Given the description of an element on the screen output the (x, y) to click on. 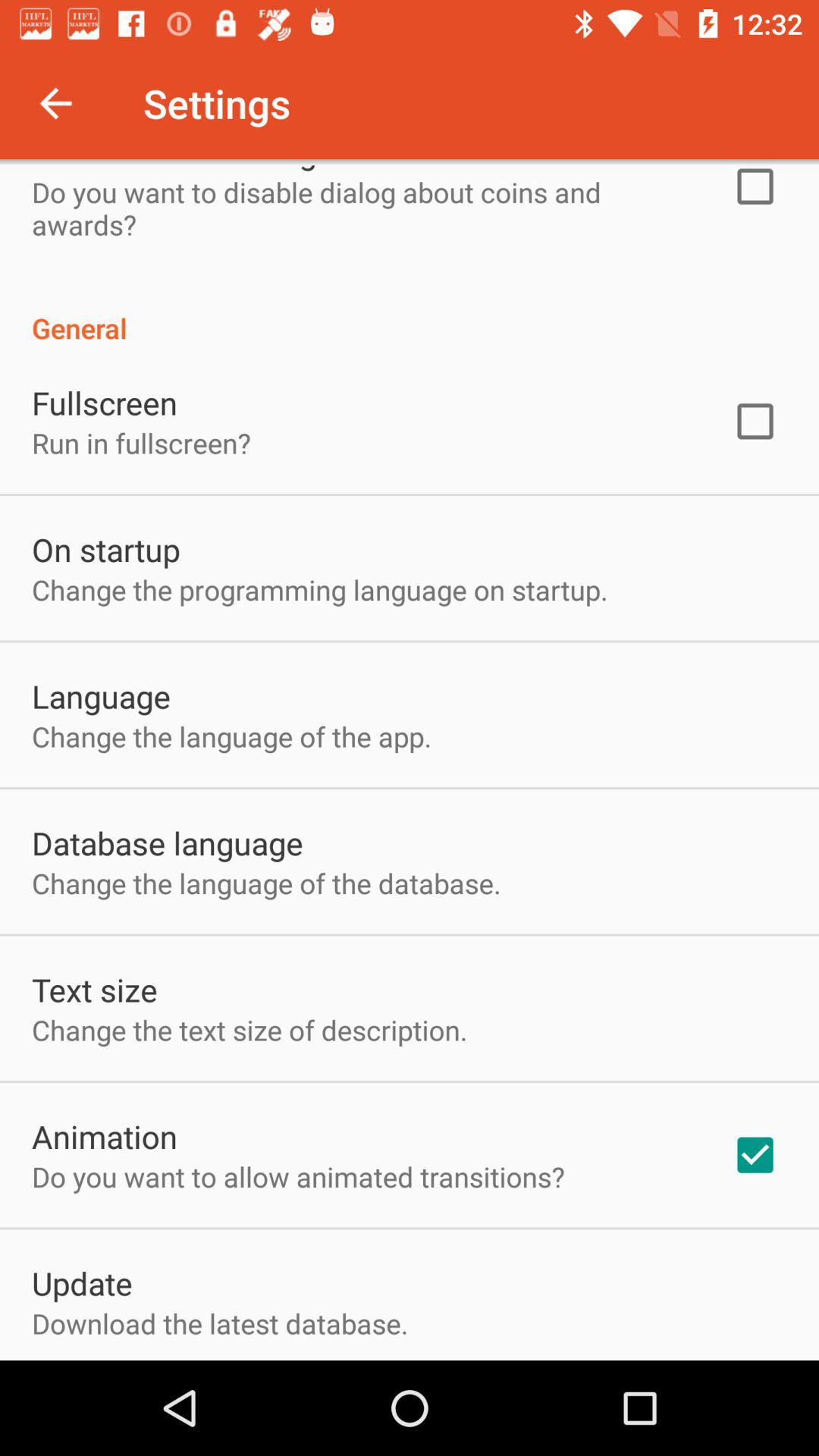
launch the item above the fullscreen icon (409, 311)
